Given the description of an element on the screen output the (x, y) to click on. 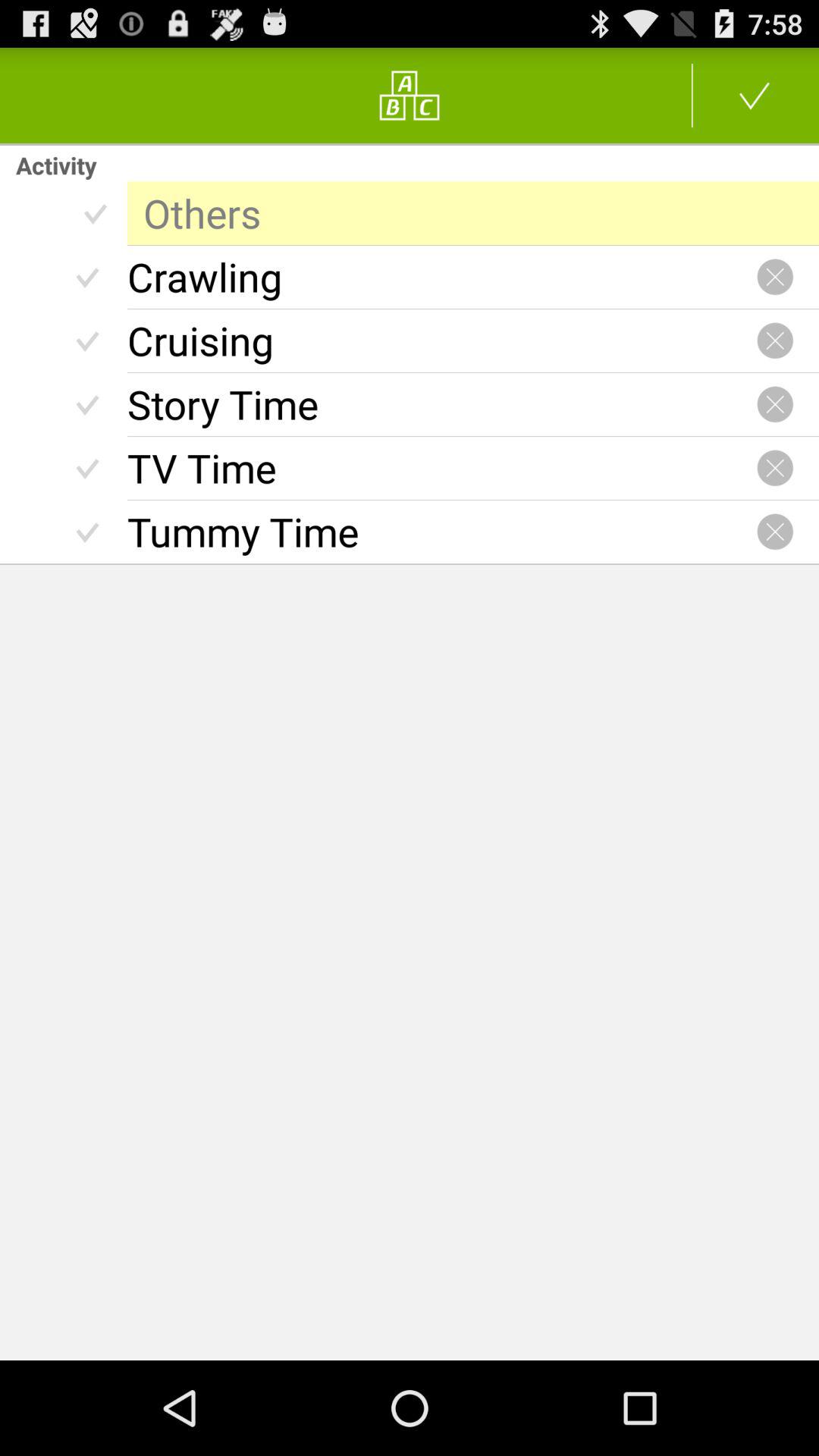
others (473, 213)
